Given the description of an element on the screen output the (x, y) to click on. 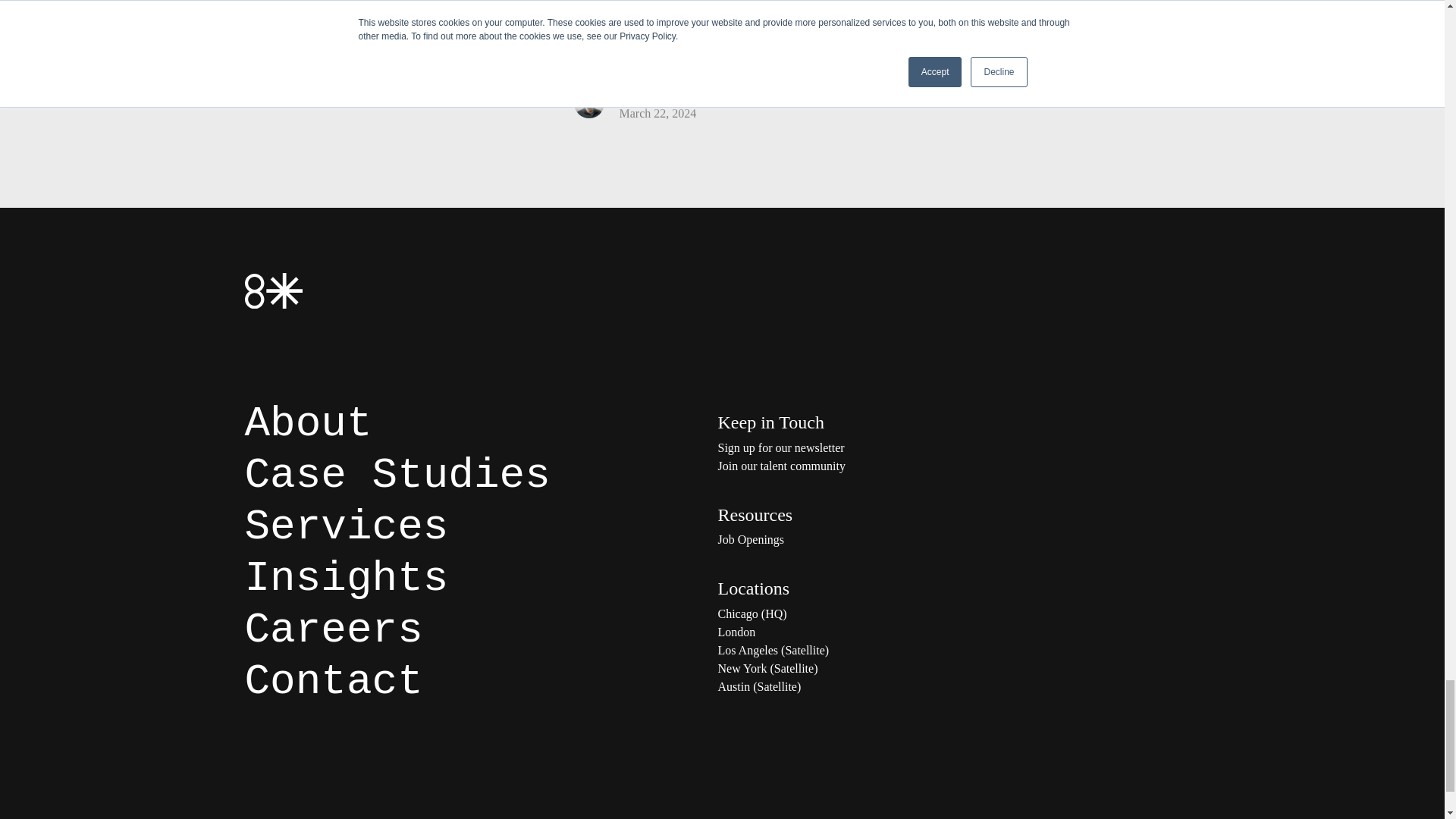
Insights (346, 578)
Case Studies (397, 475)
Services (346, 526)
Contact (333, 681)
About (307, 423)
Jeff Mielke (325, 64)
Sign up for our newsletter (868, 447)
Join our talent community (868, 466)
Job Openings (868, 539)
Careers (333, 630)
Eva PenzeyMoog (994, 64)
Brad Ediger (395, 18)
